Given the description of an element on the screen output the (x, y) to click on. 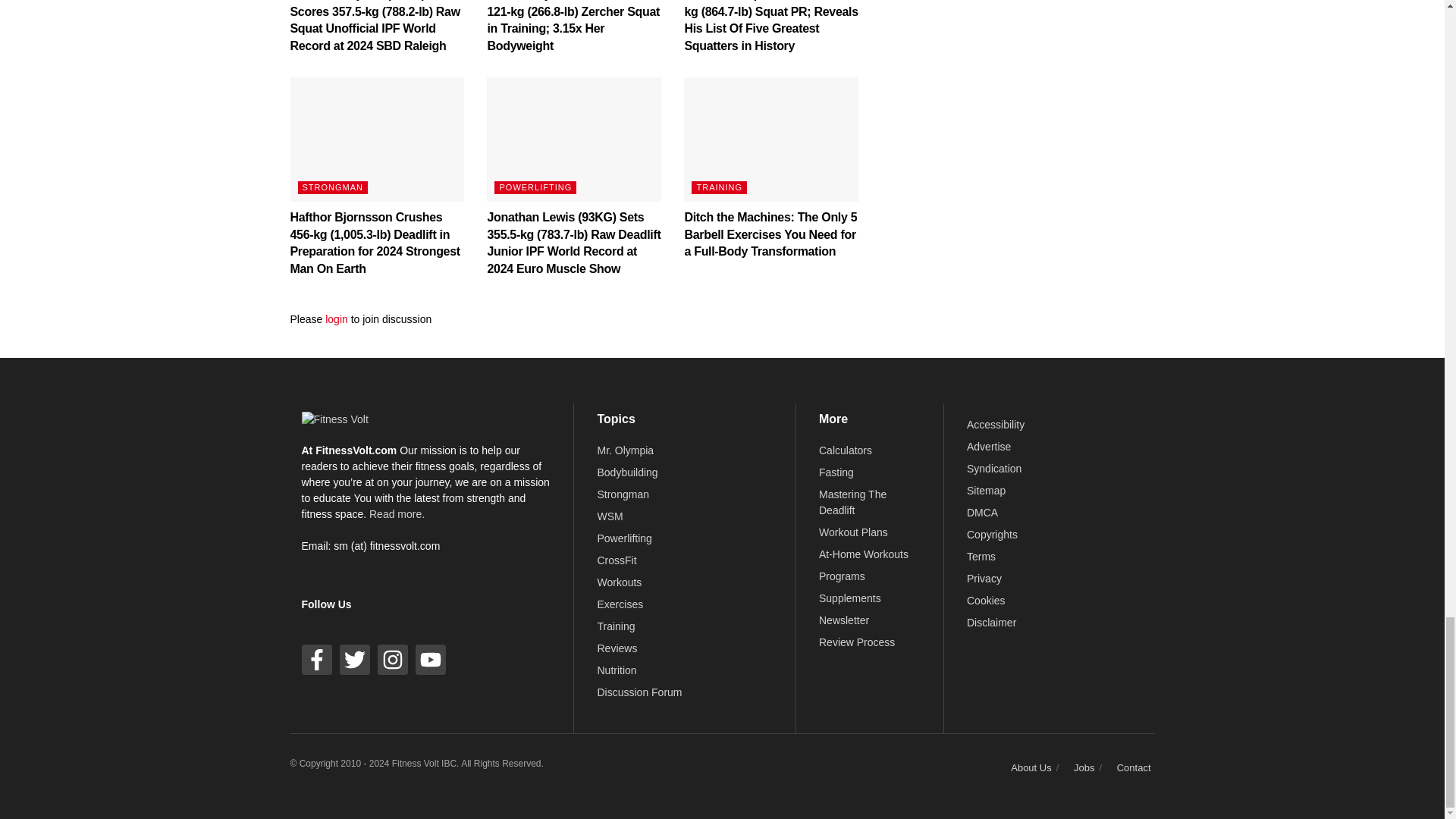
2019 Mr. Olympia News (624, 450)
Read more about Fitness Volt (397, 513)
Accessibility Conformance Status (995, 424)
